Given the description of an element on the screen output the (x, y) to click on. 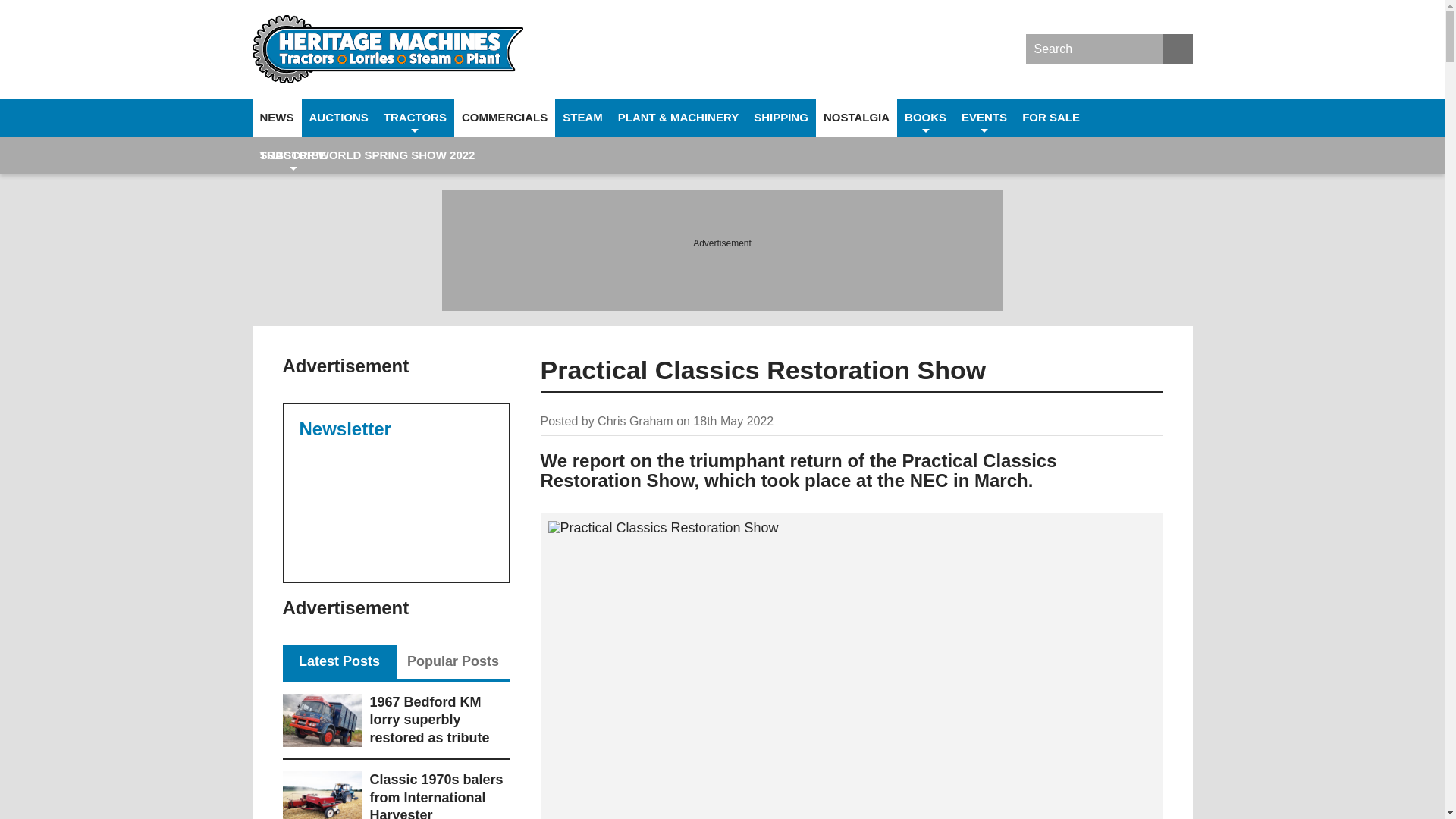
EVENTS (983, 117)
SHIPPING (780, 117)
AUCTIONS (338, 117)
COMMERCIALS (504, 117)
SUBSCRIBE (292, 155)
FOR SALE (1050, 117)
NOSTALGIA (855, 117)
TRACTORS (414, 117)
Search (1176, 49)
STEAM (582, 117)
